Given the description of an element on the screen output the (x, y) to click on. 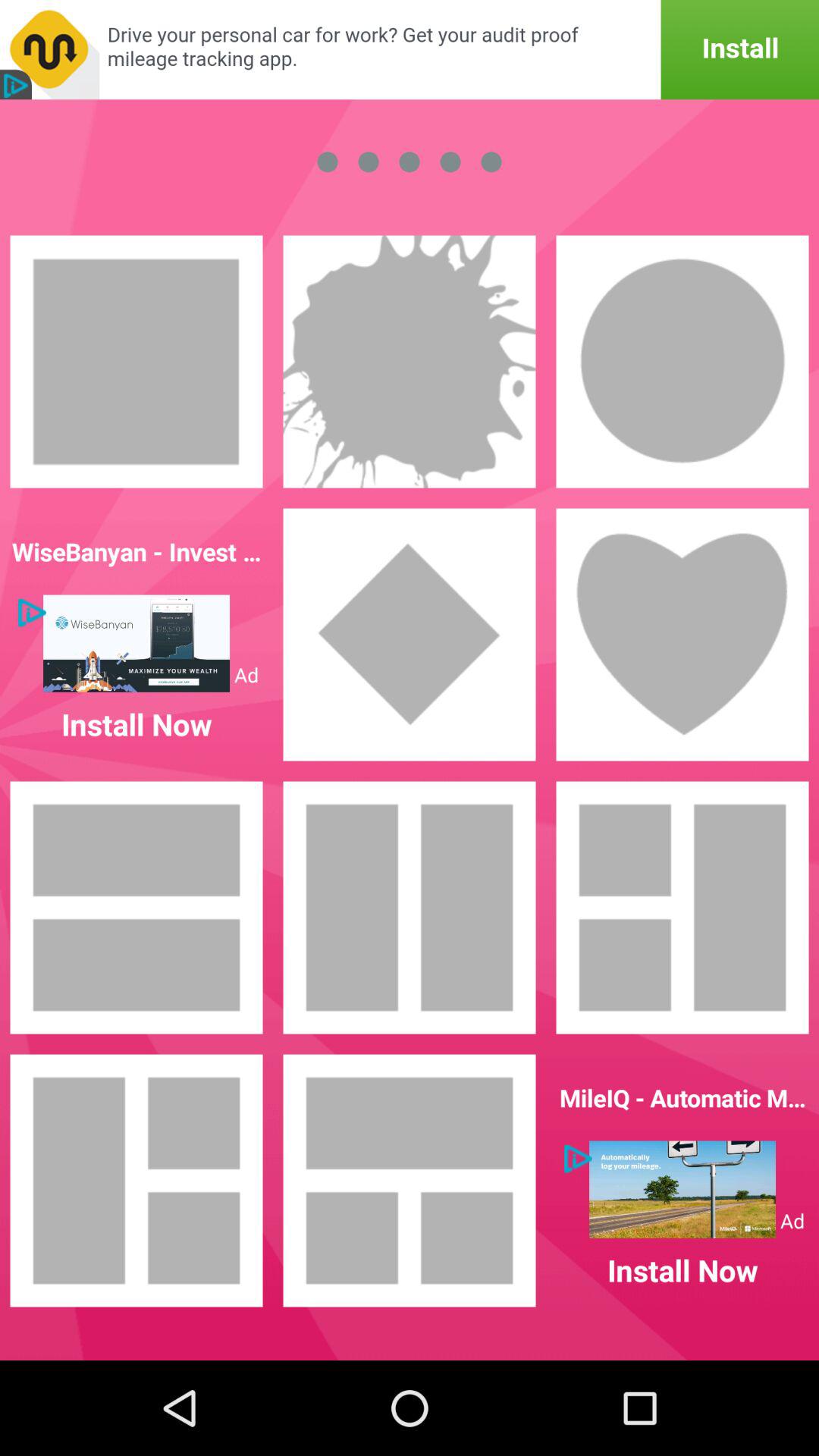
select square frame (136, 361)
